Given the description of an element on the screen output the (x, y) to click on. 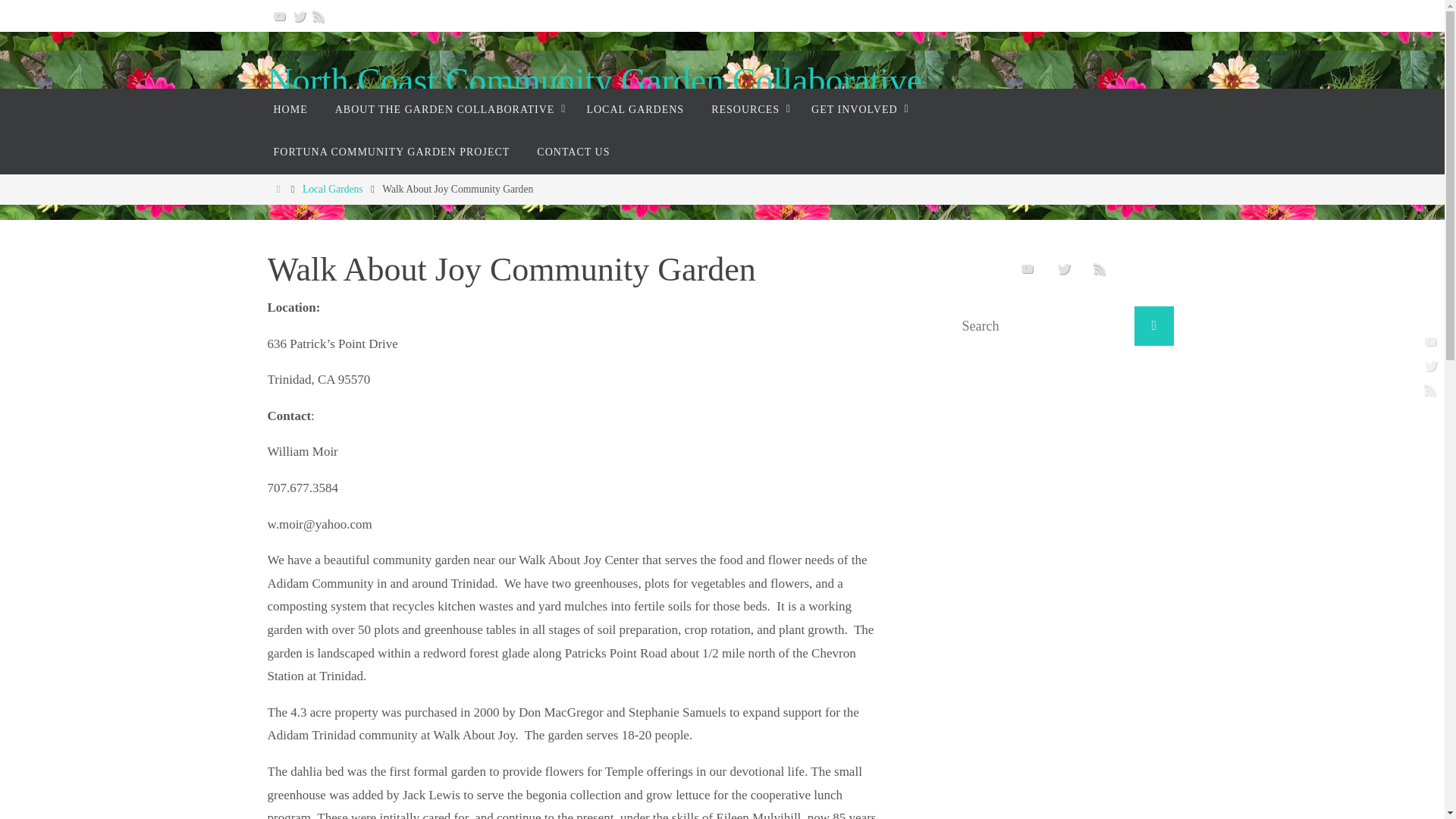
HOME (289, 109)
LOCAL GARDENS (634, 109)
Twitter (1063, 268)
North Coast Community Garden Collaborative (593, 81)
RSS (1100, 268)
Twitter (298, 15)
ABOUT THE GARDEN COLLABORATIVE (447, 109)
RSS (317, 15)
YouTube (278, 15)
North Coast Community Garden Collaborative (593, 81)
